Given the description of an element on the screen output the (x, y) to click on. 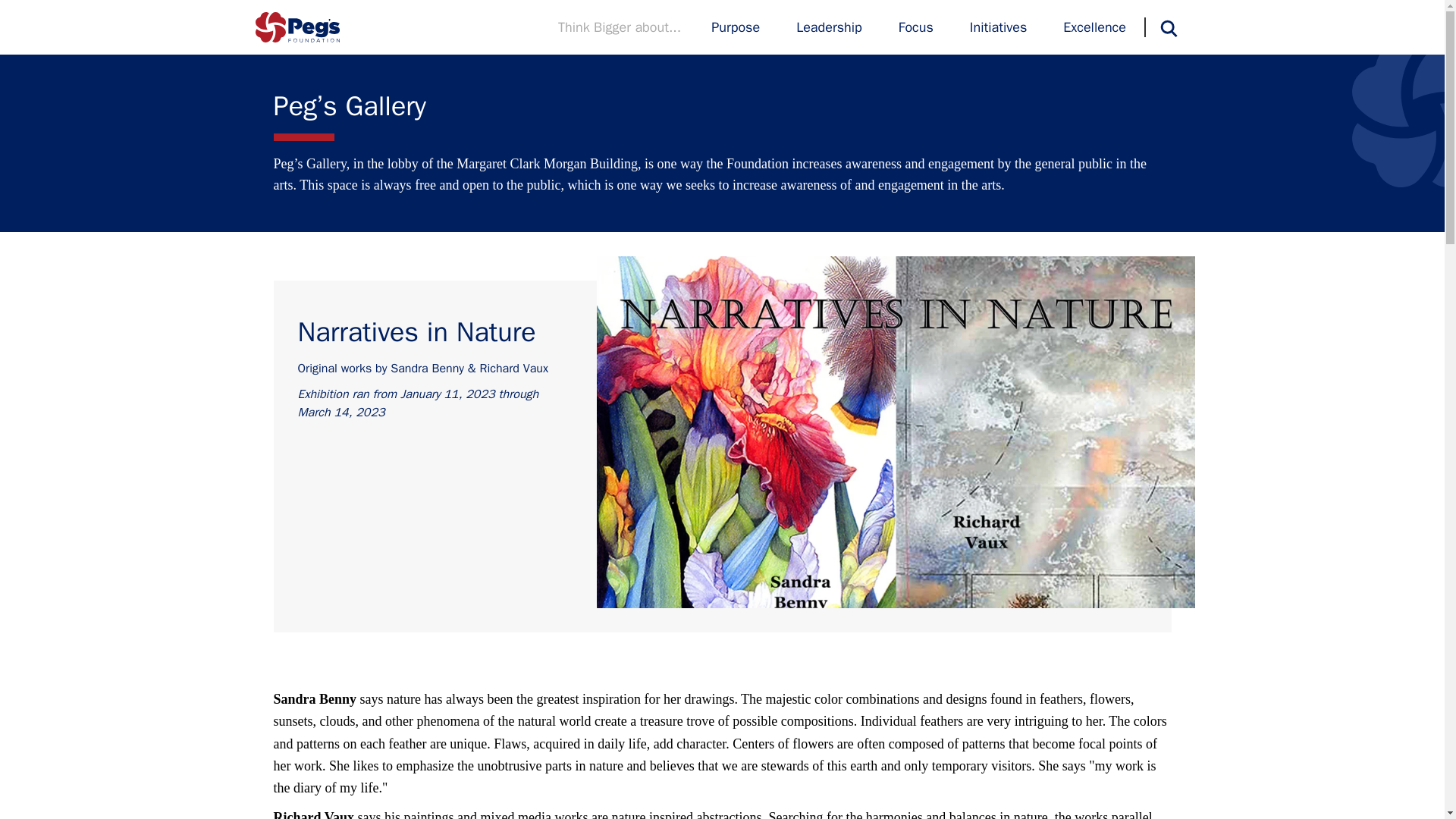
Focus (915, 27)
Initiatives (997, 27)
Purpose (735, 27)
Leadership (828, 27)
Excellence (1093, 27)
